Given the description of an element on the screen output the (x, y) to click on. 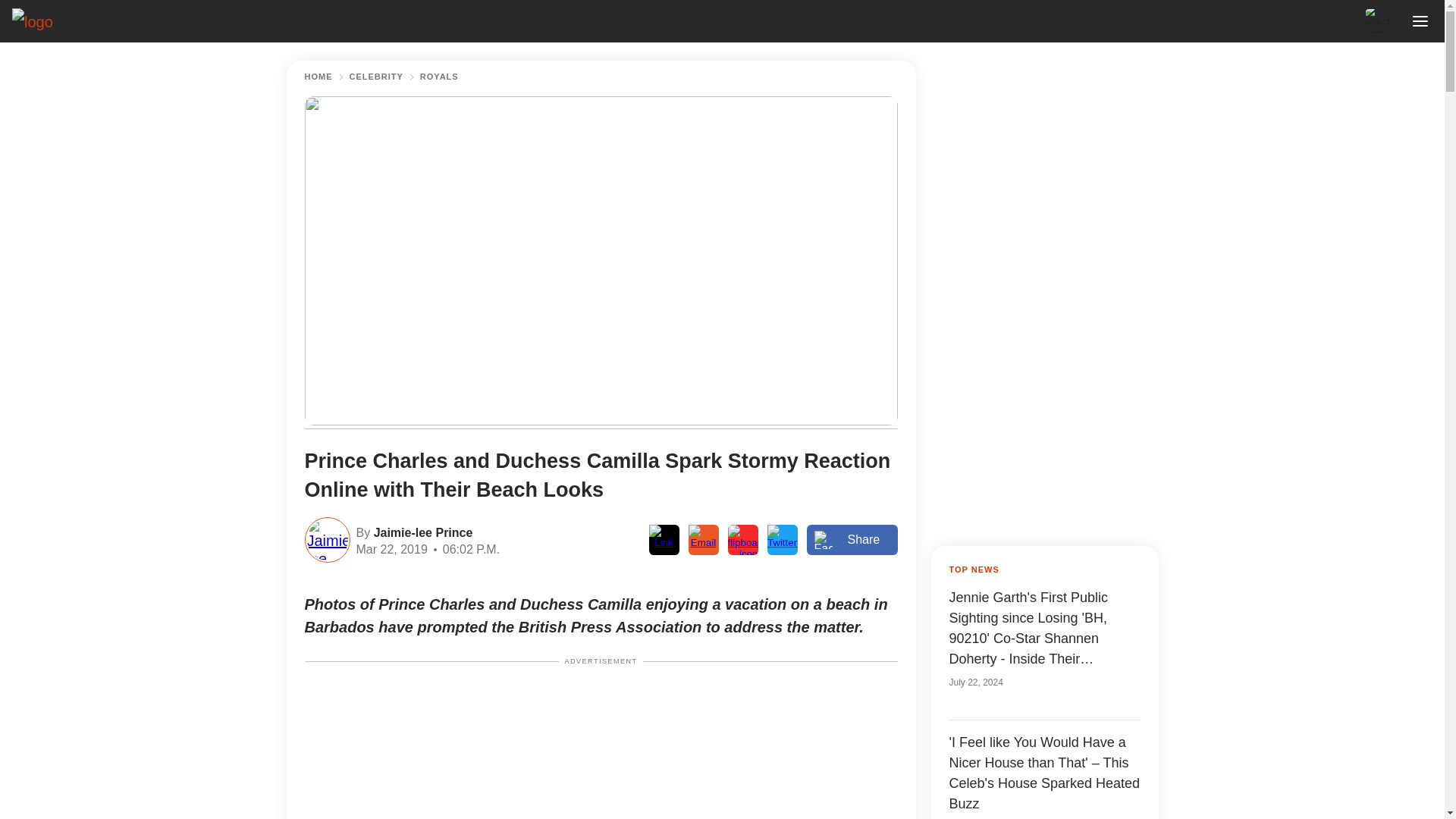
ROYALS (439, 76)
CELEBRITY (376, 76)
Jaimie-lee Prince (420, 531)
HOME (318, 76)
